Given the description of an element on the screen output the (x, y) to click on. 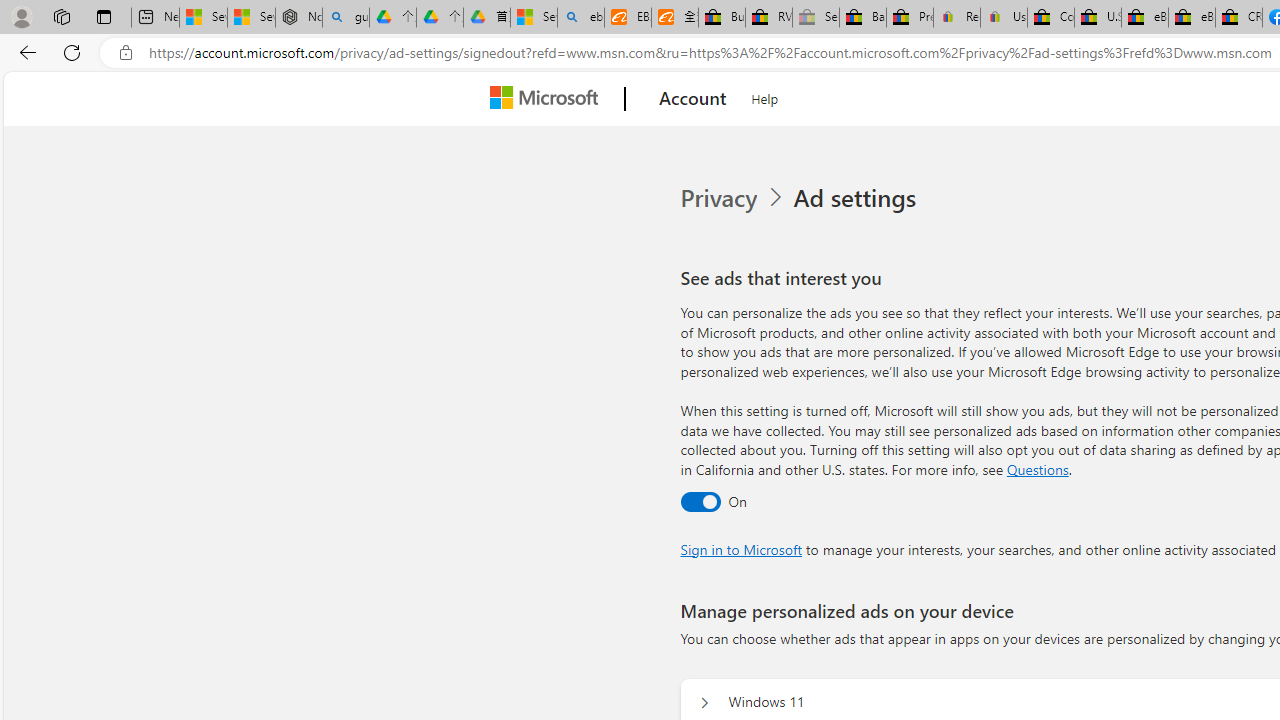
Go to Questions section (1037, 468)
Consumer Health Data Privacy Policy - eBay Inc. (1050, 17)
ebay - Search (581, 17)
Register: Create a personal eBay account (957, 17)
Privacy (720, 197)
Baby Keepsakes & Announcements for sale | eBay (862, 17)
Manage personalized ads on your device Windows 11 (704, 702)
Privacy (734, 197)
Press Room - eBay Inc. (910, 17)
Ad settings toggle (699, 501)
Sell worldwide with eBay - Sleeping (815, 17)
